Given the description of an element on the screen output the (x, y) to click on. 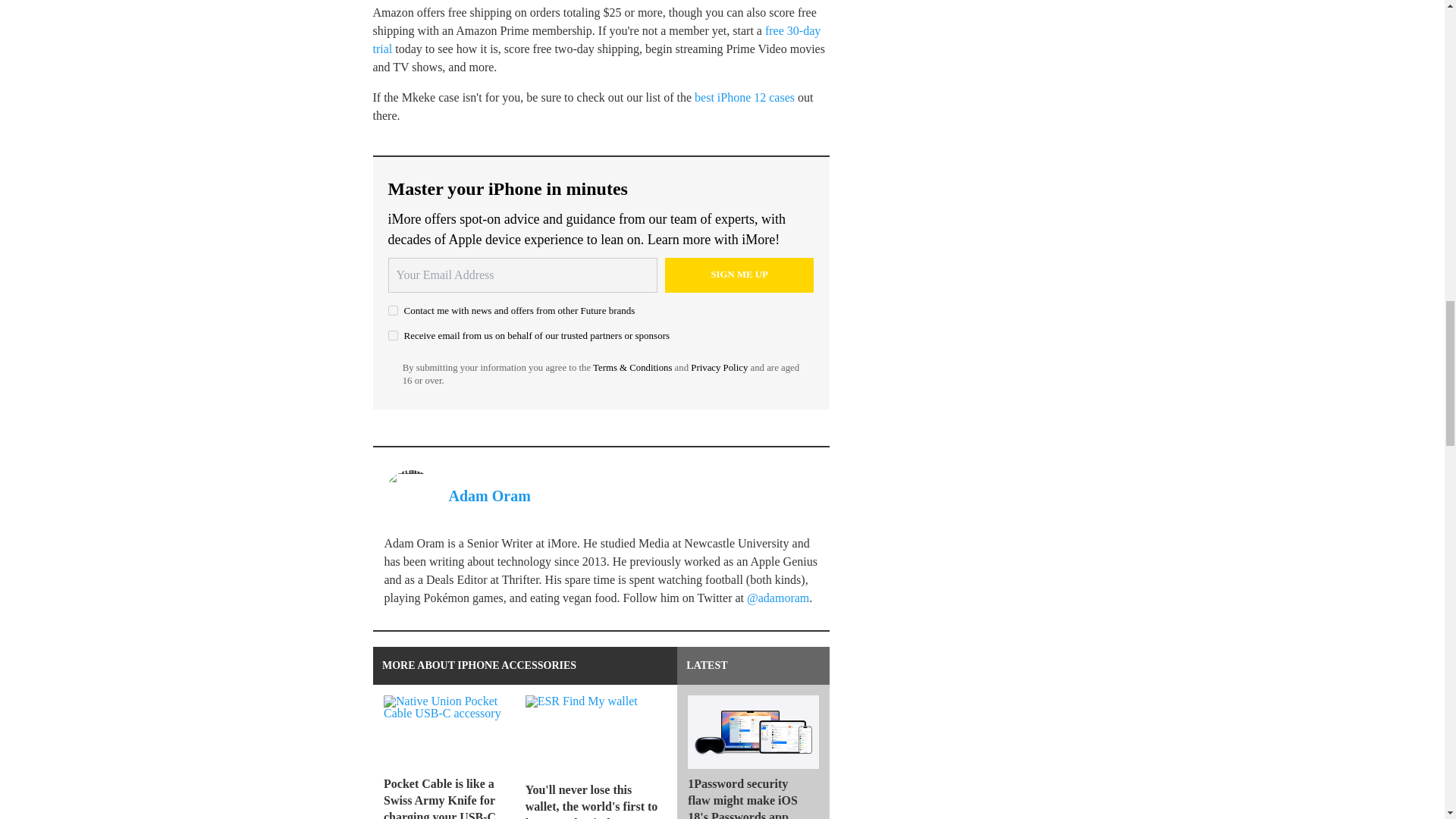
on (392, 335)
on (392, 310)
Sign me up (739, 274)
